Given the description of an element on the screen output the (x, y) to click on. 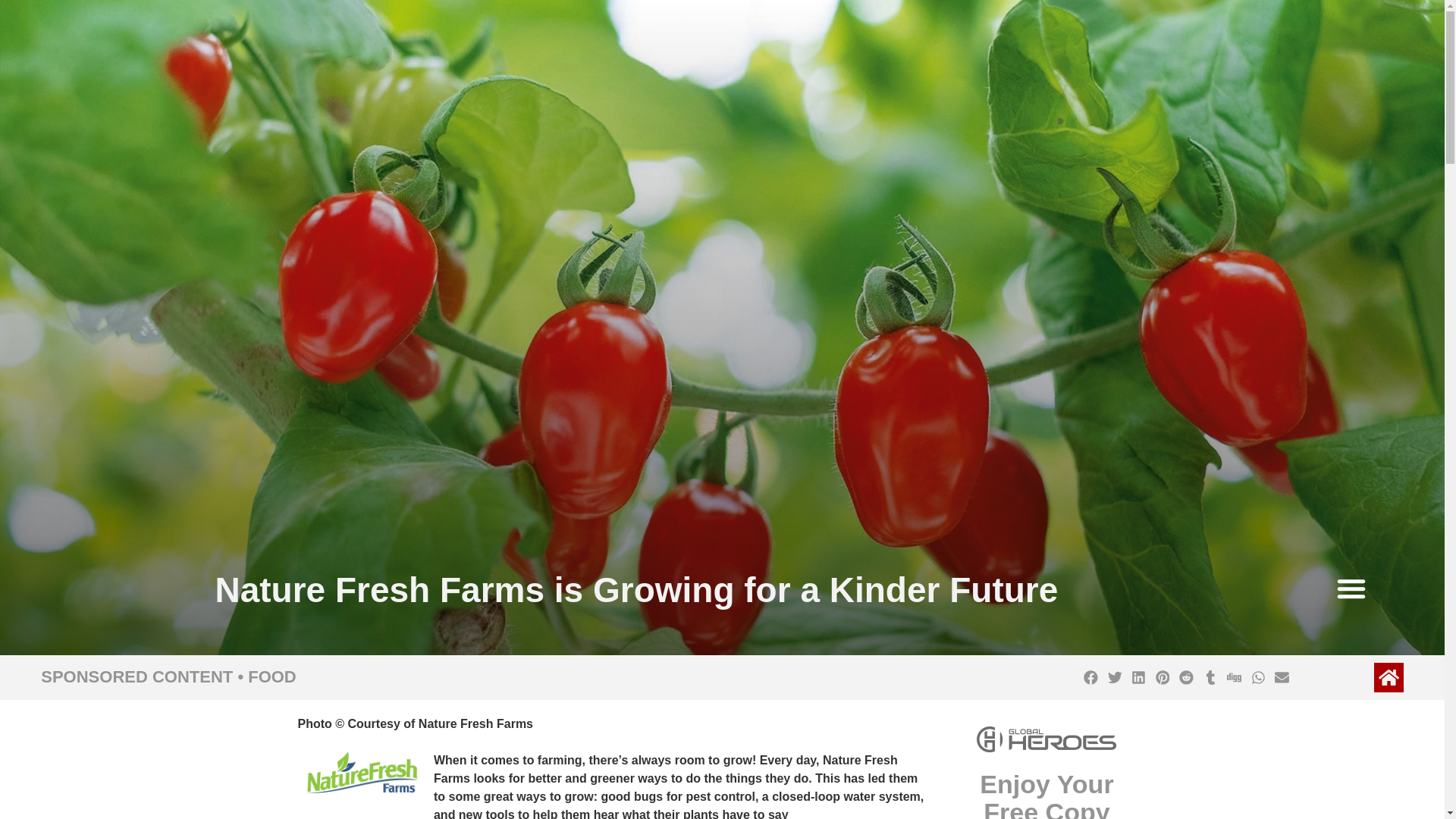
Global Heroes Logo Grey (1046, 738)
FOOD (272, 676)
